Given the description of an element on the screen output the (x, y) to click on. 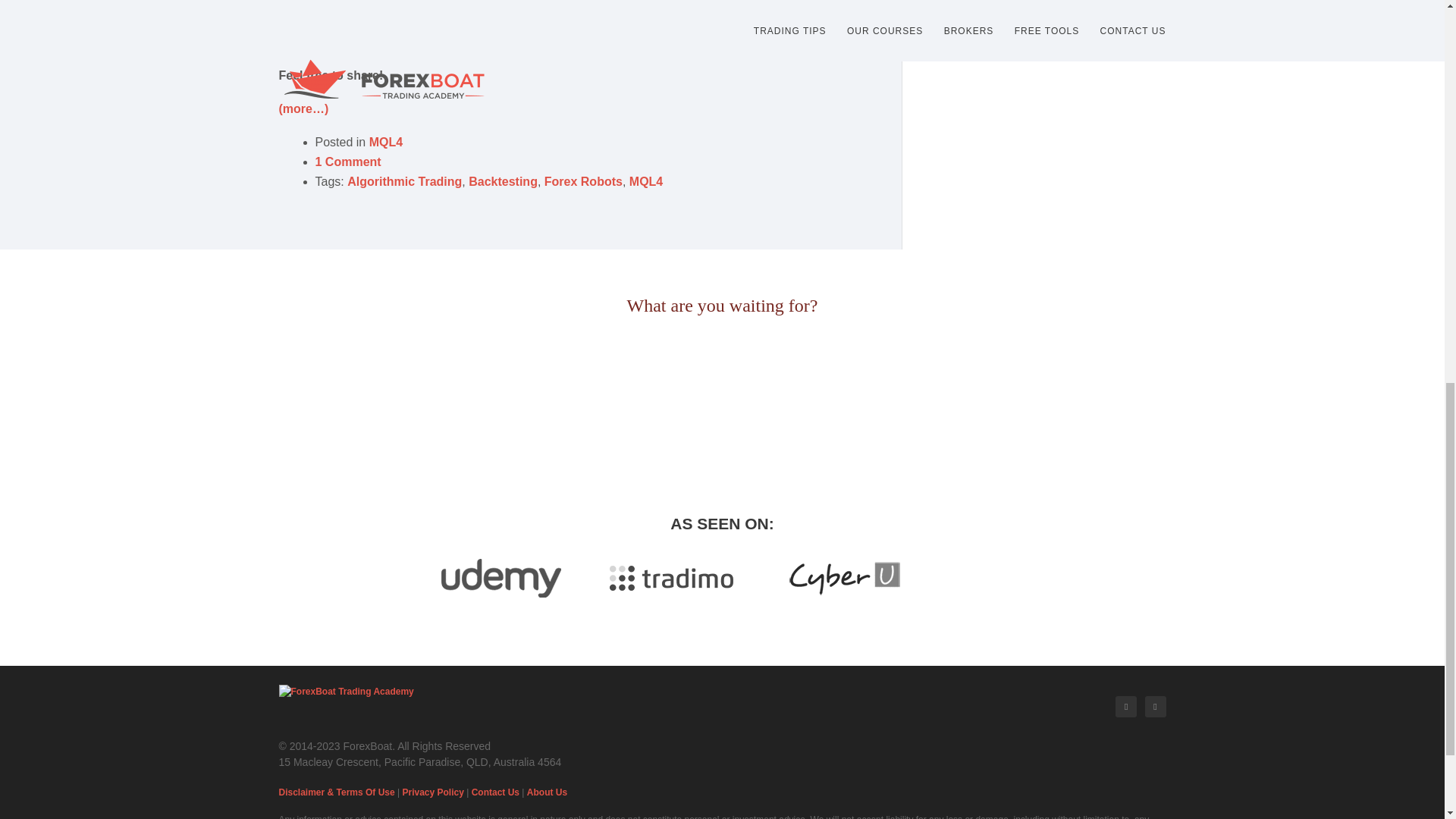
Backtesting (502, 181)
1 Comment (348, 161)
Forex Robots (583, 181)
MQL4 (386, 141)
MQL4 (645, 181)
Algorithmic Trading (404, 181)
Sign me up! (721, 395)
